Given the description of an element on the screen output the (x, y) to click on. 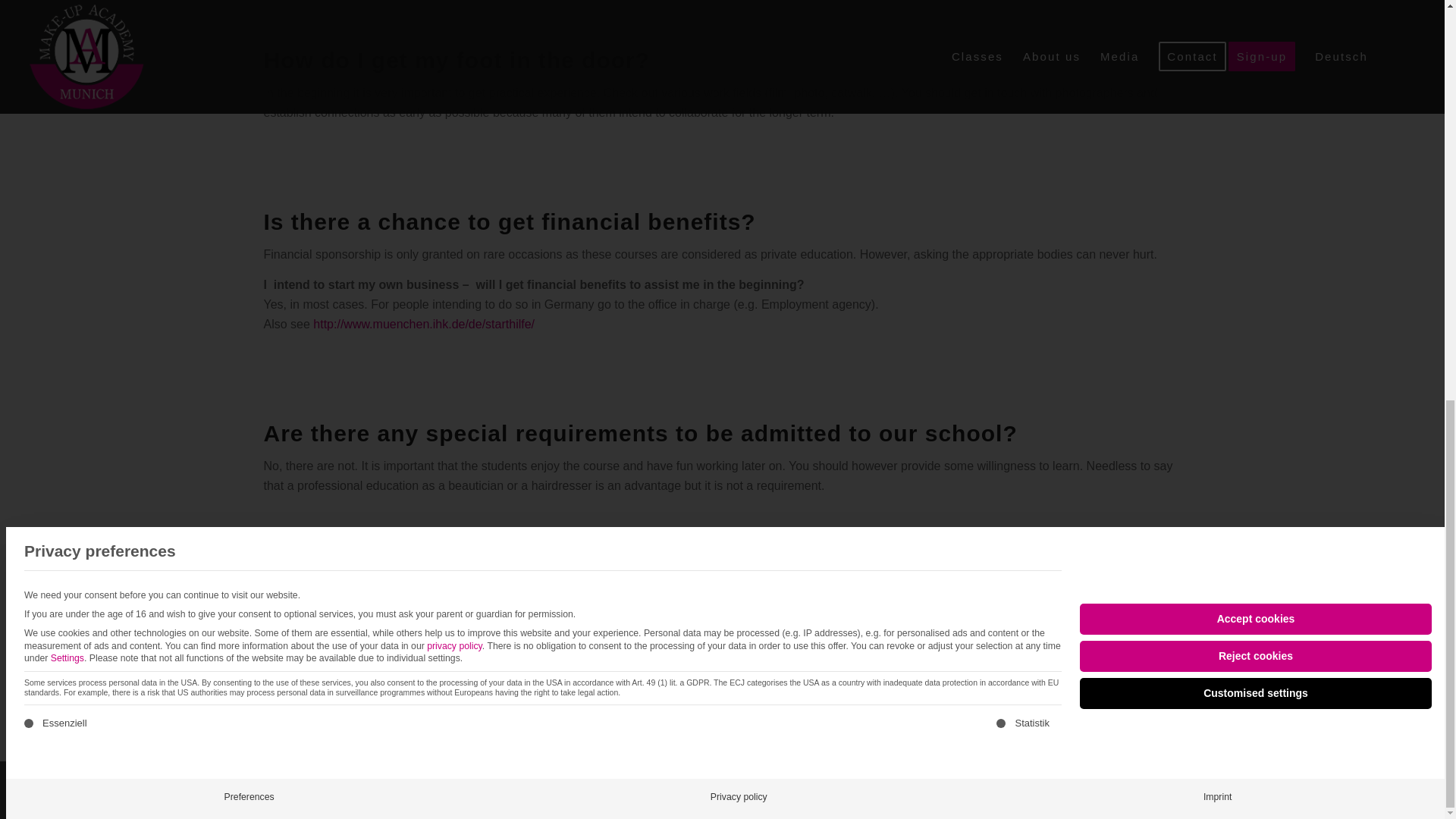
Makeup School (345, 800)
Media -en (776, 728)
Privacy policy (738, 15)
Contact (770, 648)
About us (773, 608)
Classes (771, 628)
Imprint (1217, 15)
FAQ (761, 667)
FAQ (392, 800)
Home -en (776, 688)
